Given the description of an element on the screen output the (x, y) to click on. 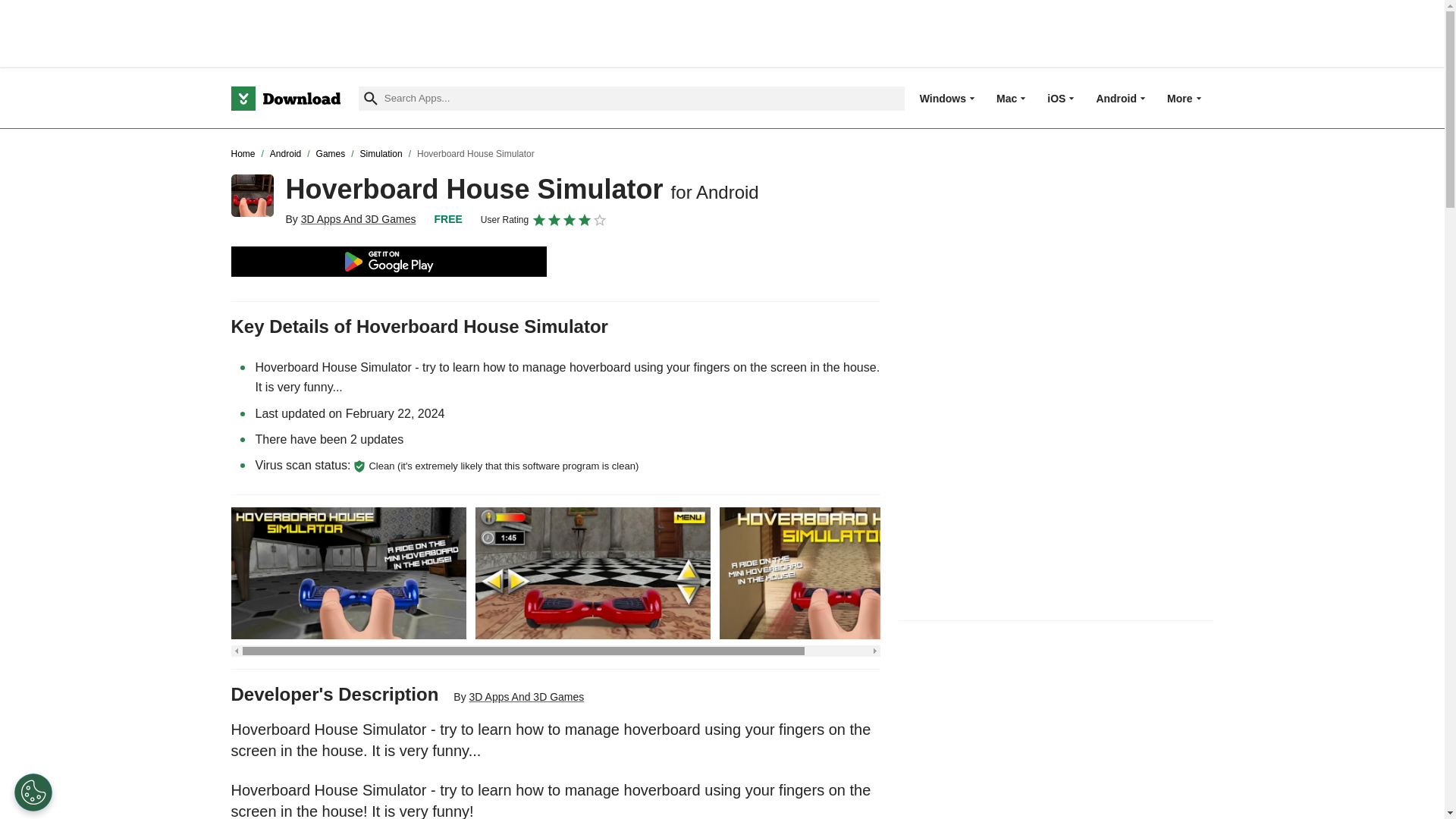
Windows (943, 97)
Mac (1005, 97)
Get it on Google Play (388, 261)
